Given the description of an element on the screen output the (x, y) to click on. 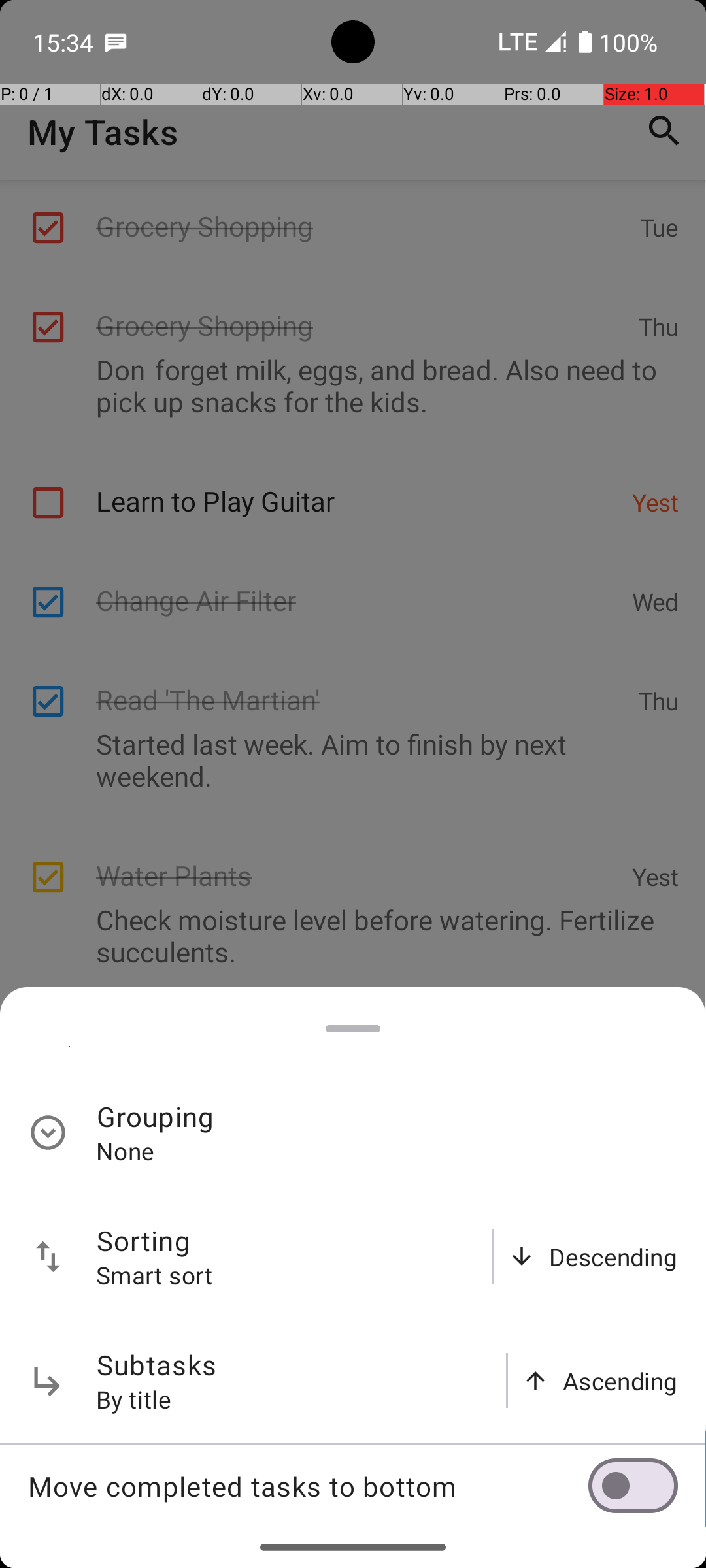
Drag handle Element type: android.view.View (352, 1028)
Grouping Element type: android.widget.TextView (155, 1115)
Sorting Element type: android.widget.TextView (143, 1239)
Smart sort Element type: android.widget.TextView (154, 1274)
Subtasks Element type: android.widget.TextView (156, 1364)
By title Element type: android.widget.TextView (133, 1399)
Move completed tasks to bottom Element type: android.widget.TextView (307, 1485)
Descending Element type: android.widget.TextView (613, 1256)
Ascending Element type: android.widget.TextView (619, 1380)
